Given the description of an element on the screen output the (x, y) to click on. 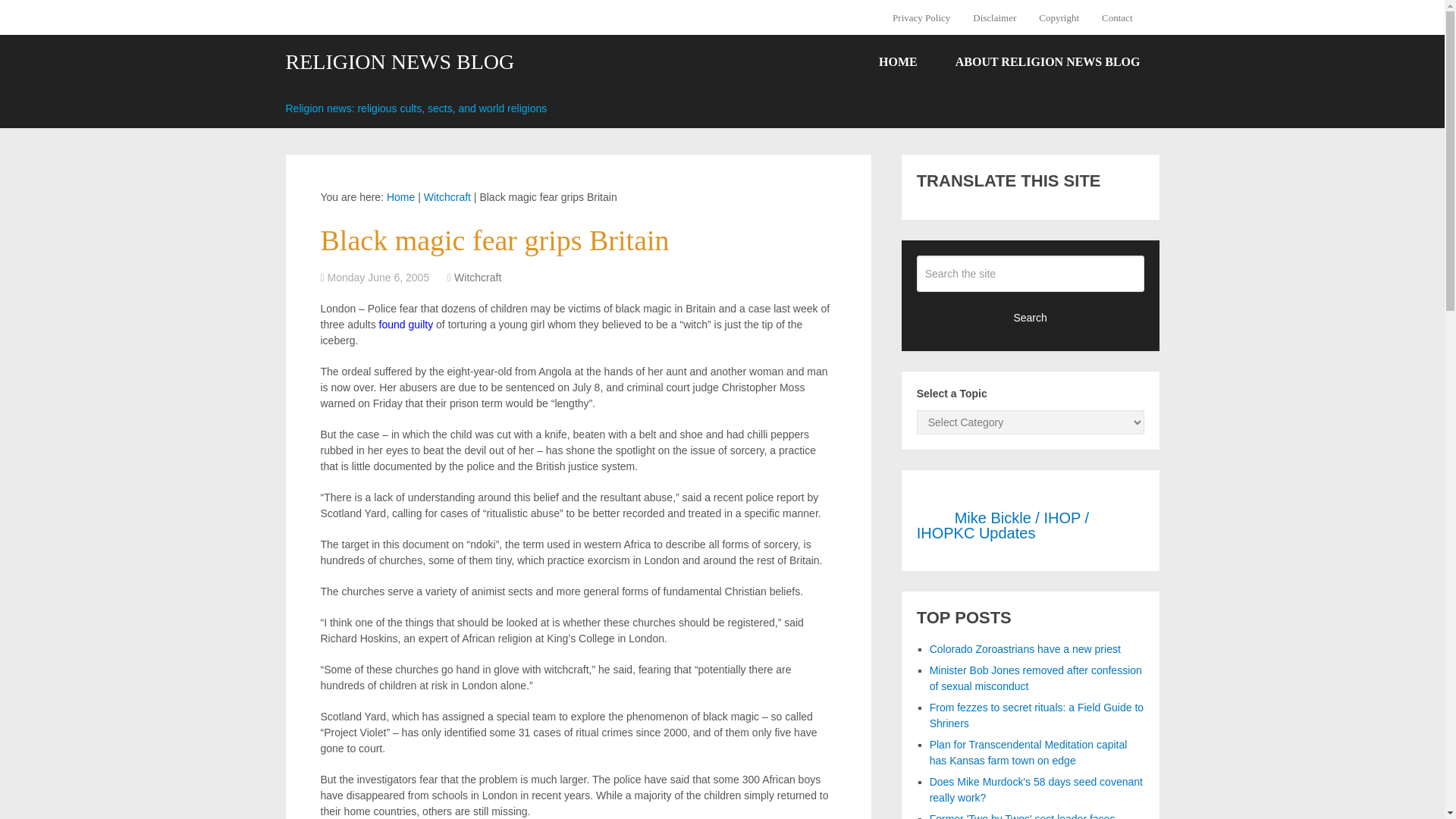
View all posts in Witchcraft (477, 277)
Privacy Policy (926, 17)
Colorado Zoroastrians have a new priest (1025, 648)
ABOUT RELIGION NEWS BLOG (1047, 62)
Former 'Two by Twos' sect leader faces abuse charges (1022, 816)
Does Mike Murdock's 58 days seed covenant really work? (1036, 789)
Contact (1116, 17)
RELIGION NEWS BLOG (399, 61)
HOME (898, 62)
Witchcraft (446, 196)
From fezzes to secret rituals: a Field Guide to Shriners (1036, 715)
found guilty (405, 324)
Disclaimer (993, 17)
